Given the description of an element on the screen output the (x, y) to click on. 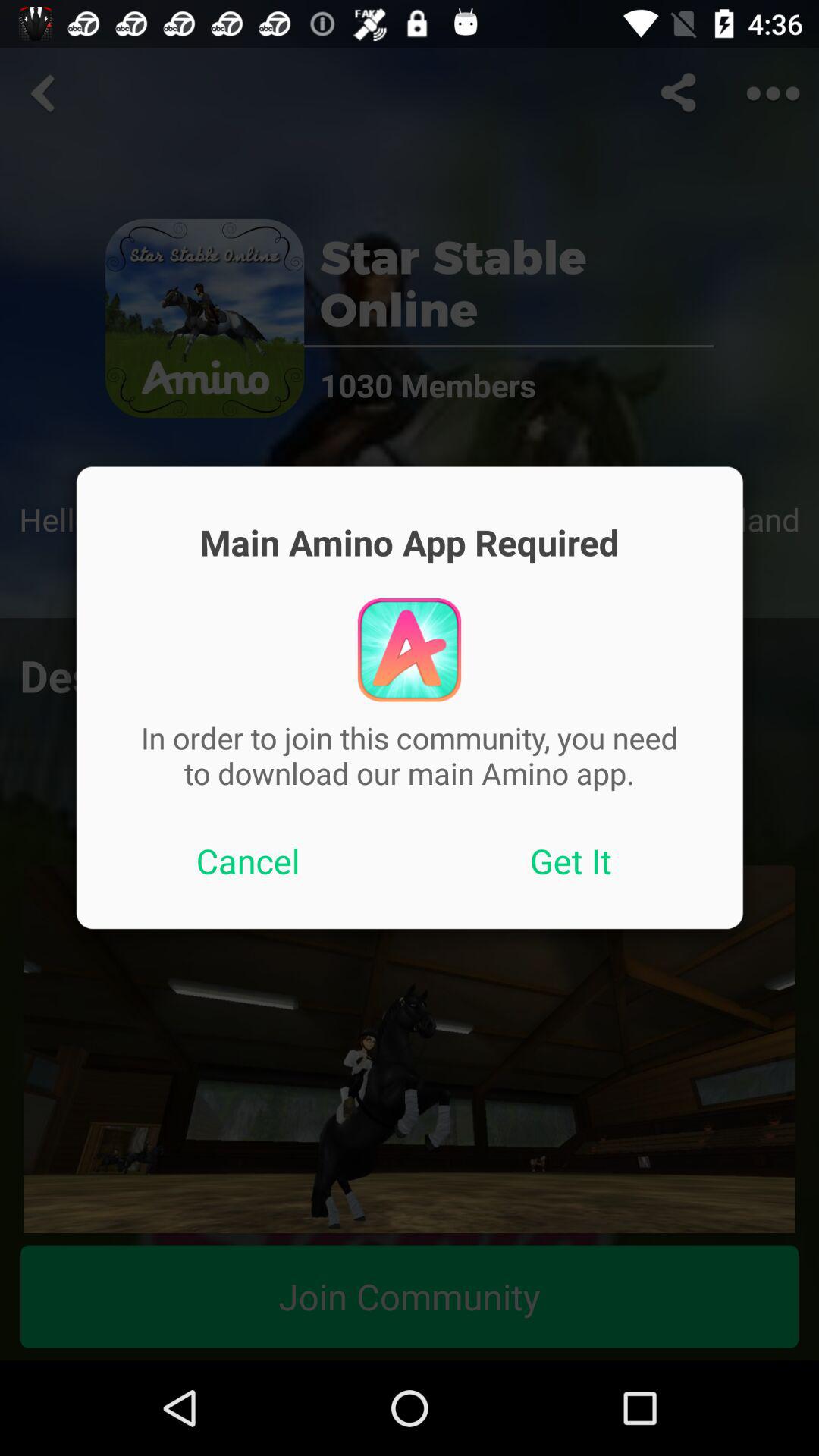
choose the get it button (570, 860)
